Given the description of an element on the screen output the (x, y) to click on. 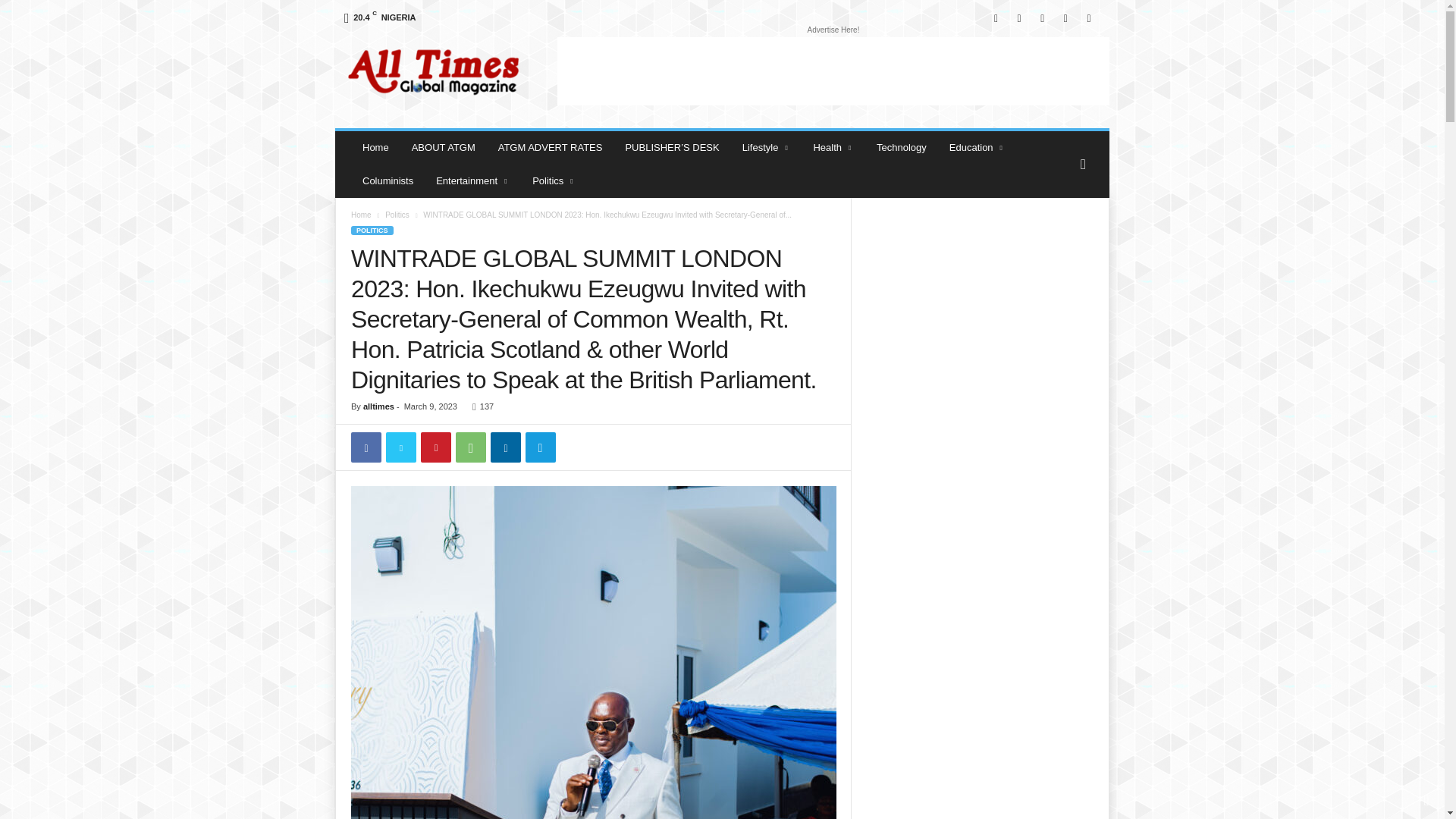
Home (375, 147)
ALL TIMES GLOBAL MAGAZINE (437, 70)
